Given the description of an element on the screen output the (x, y) to click on. 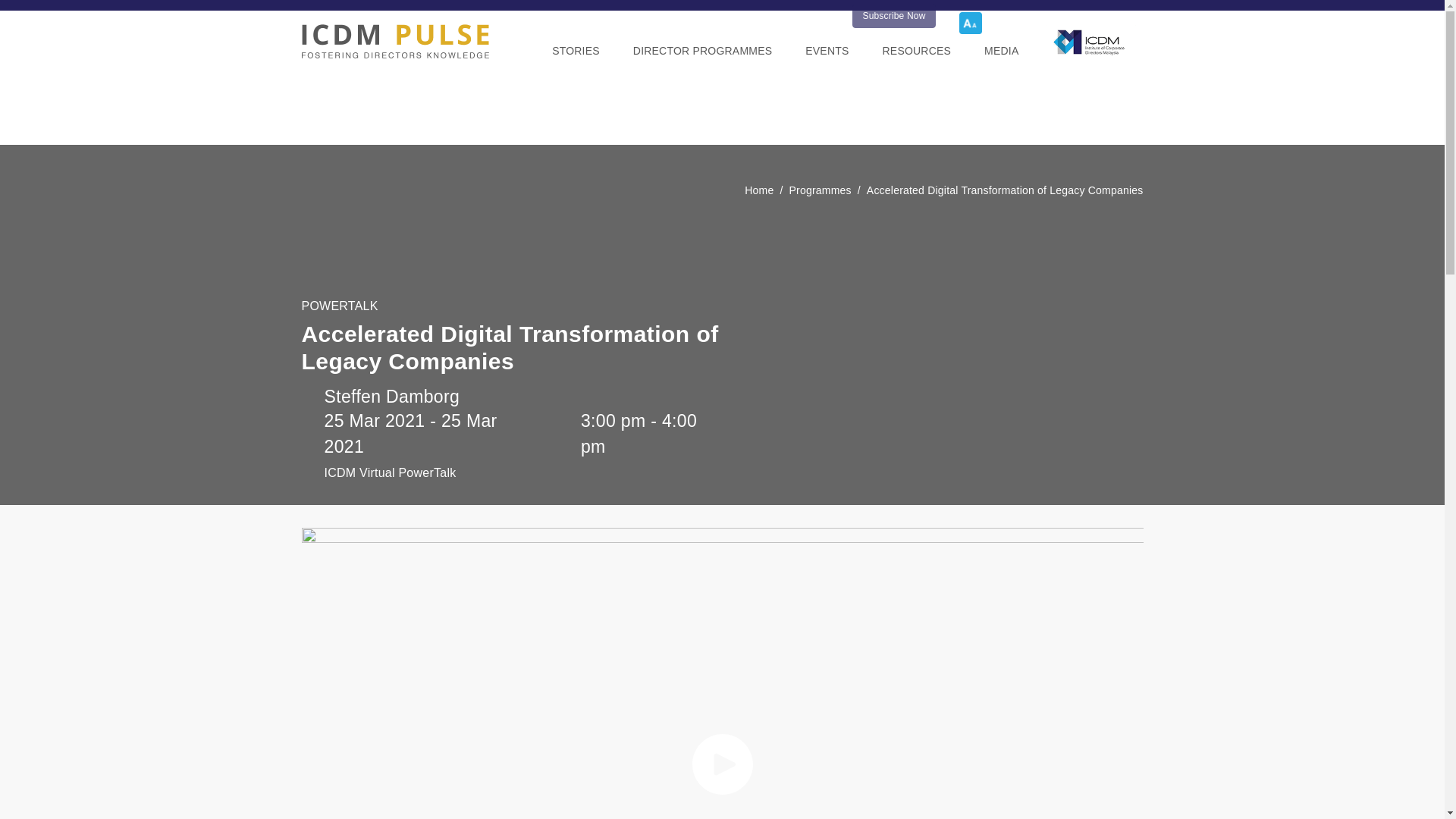
EVENTS (826, 51)
Home (758, 190)
DIRECTOR PROGRAMMES (702, 51)
ICDM (395, 41)
Media (1001, 51)
MEDIA (1001, 51)
Director Programmes (702, 51)
Subscribe Now (892, 15)
Events (826, 51)
RESOURCES (917, 51)
